Given the description of an element on the screen output the (x, y) to click on. 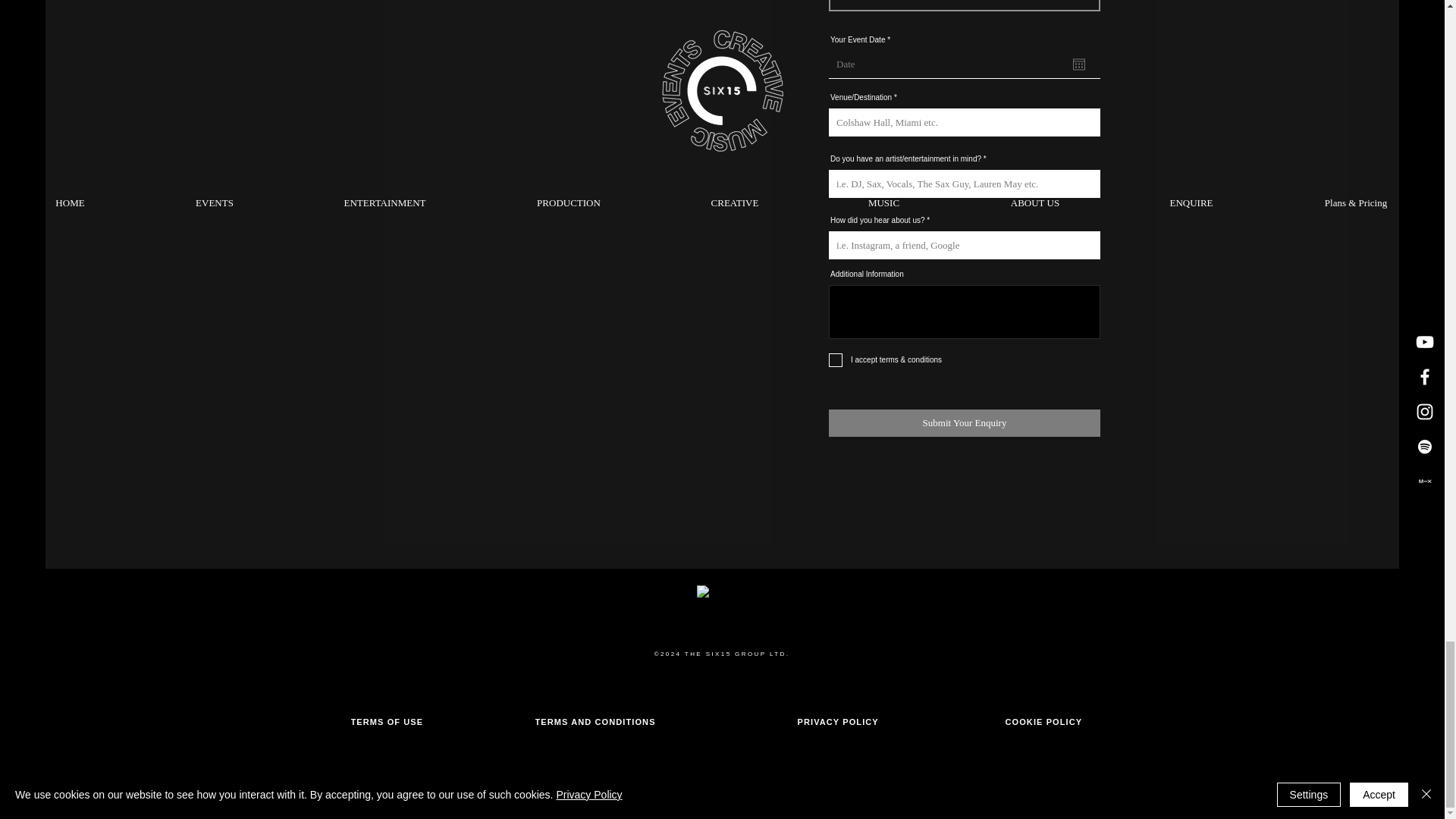
TERMS OF USE (391, 721)
Submit Your Enquiry (964, 422)
